Given the description of an element on the screen output the (x, y) to click on. 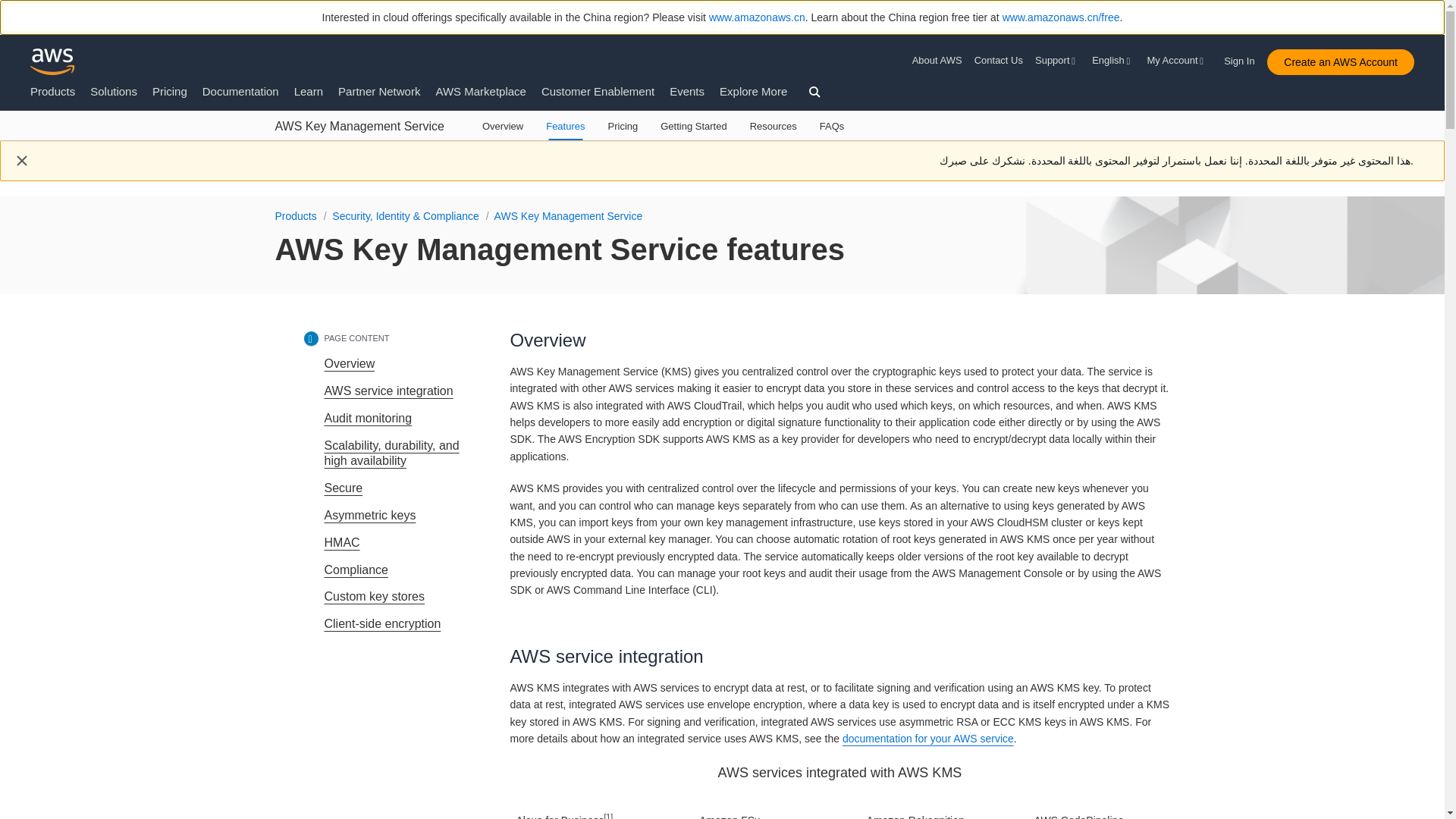
Explore More (753, 91)
Products (52, 91)
Click here to return to Amazon Web Services homepage (52, 61)
Contact Us (998, 60)
My Account  (1177, 60)
Create an AWS Account (1339, 62)
About AWS (940, 60)
Skip to main content (7, 146)
Solutions (113, 91)
www.amazonaws.cn (757, 17)
AWS Marketplace (480, 91)
Documentation (240, 91)
Customer Enablement (597, 91)
Sign In (1243, 58)
Pricing (169, 91)
